Given the description of an element on the screen output the (x, y) to click on. 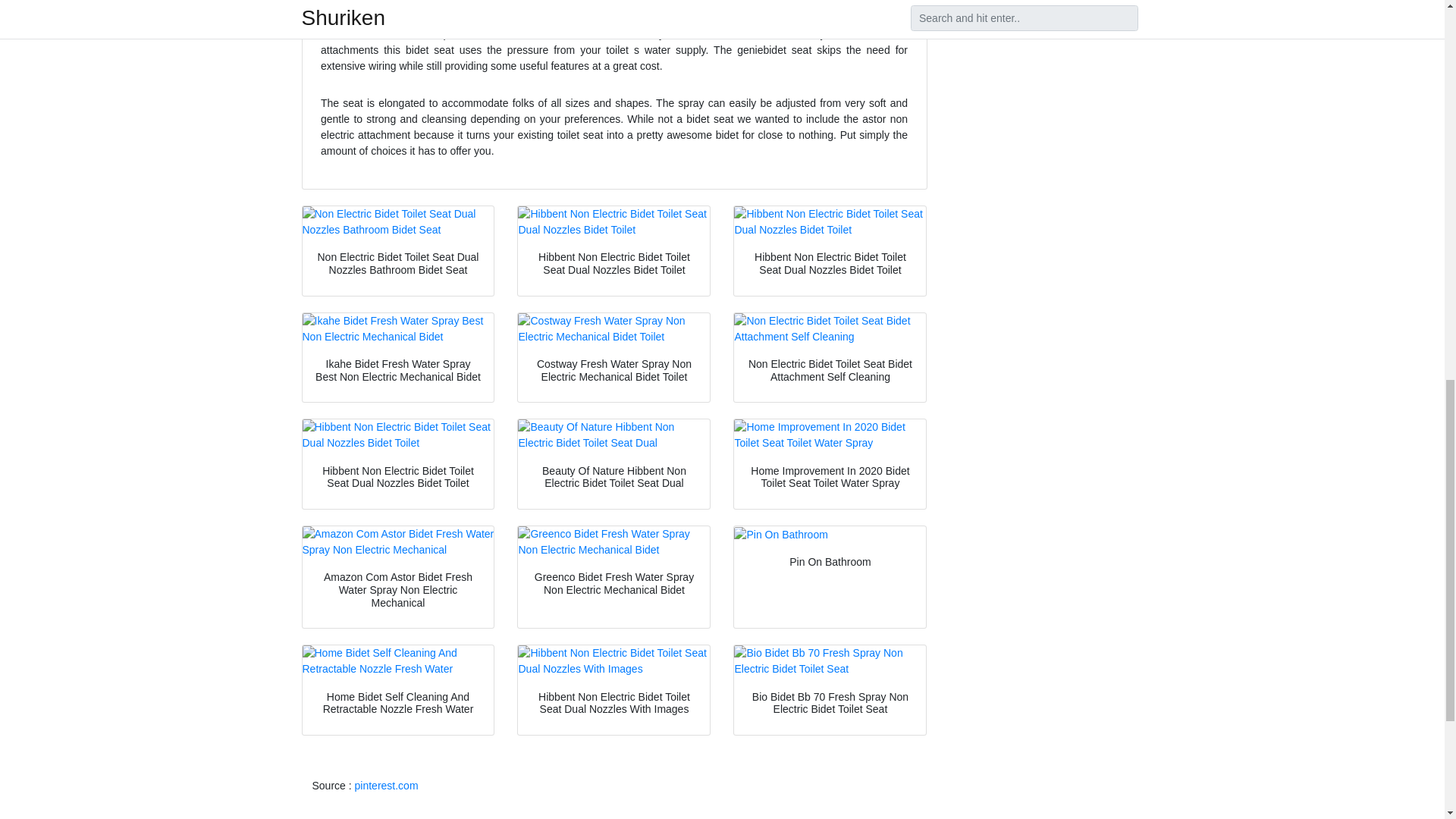
pinterest.com (387, 785)
